Given the description of an element on the screen output the (x, y) to click on. 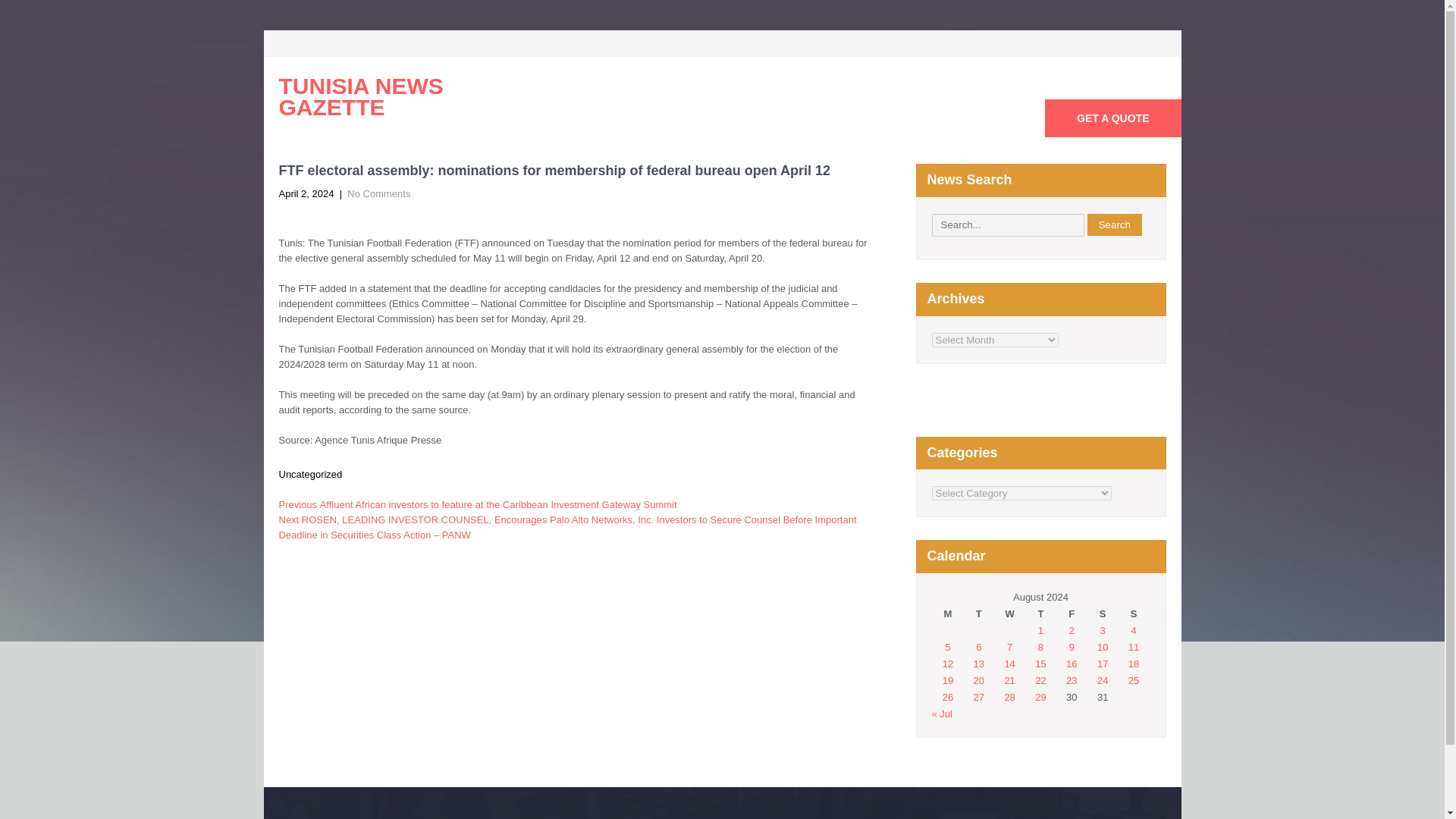
17 (1102, 663)
14 (1009, 663)
25 (1133, 680)
18 (1133, 663)
16 (1071, 663)
27 (979, 696)
Search (1114, 224)
GET A QUOTE (1112, 118)
Friday (1071, 613)
Wednesday (1009, 613)
